Given the description of an element on the screen output the (x, y) to click on. 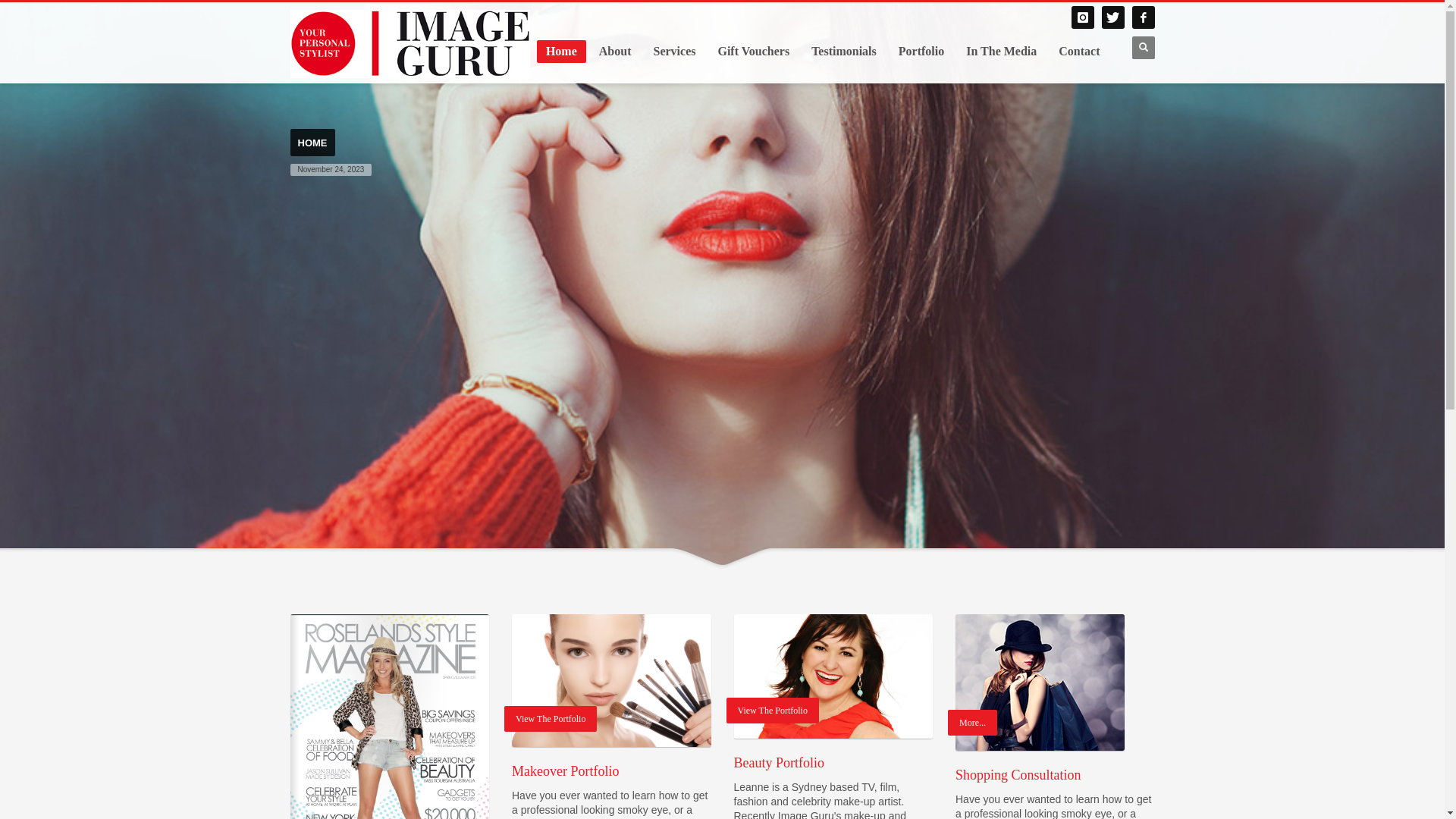
Makeover Portfolio Element type: hover (611, 680)
Gift Vouchers Element type: text (753, 51)
About Element type: text (614, 51)
Testimonials Element type: text (843, 51)
More... Element type: text (1039, 682)
Home Element type: text (561, 51)
Beauty Portfolio Element type: hover (833, 676)
Contact Element type: text (1078, 51)
Instagram Element type: hover (1081, 17)
Services Element type: text (673, 51)
View The Portfolio Element type: text (833, 676)
Facebook Element type: hover (1142, 17)
Twitter Element type: hover (1112, 17)
Shopping Consultation Element type: hover (1039, 682)
Portfolio Element type: text (921, 51)
View The Portfolio Element type: text (611, 680)
In The Media Element type: text (1001, 51)
HOME Element type: text (311, 142)
